Given the description of an element on the screen output the (x, y) to click on. 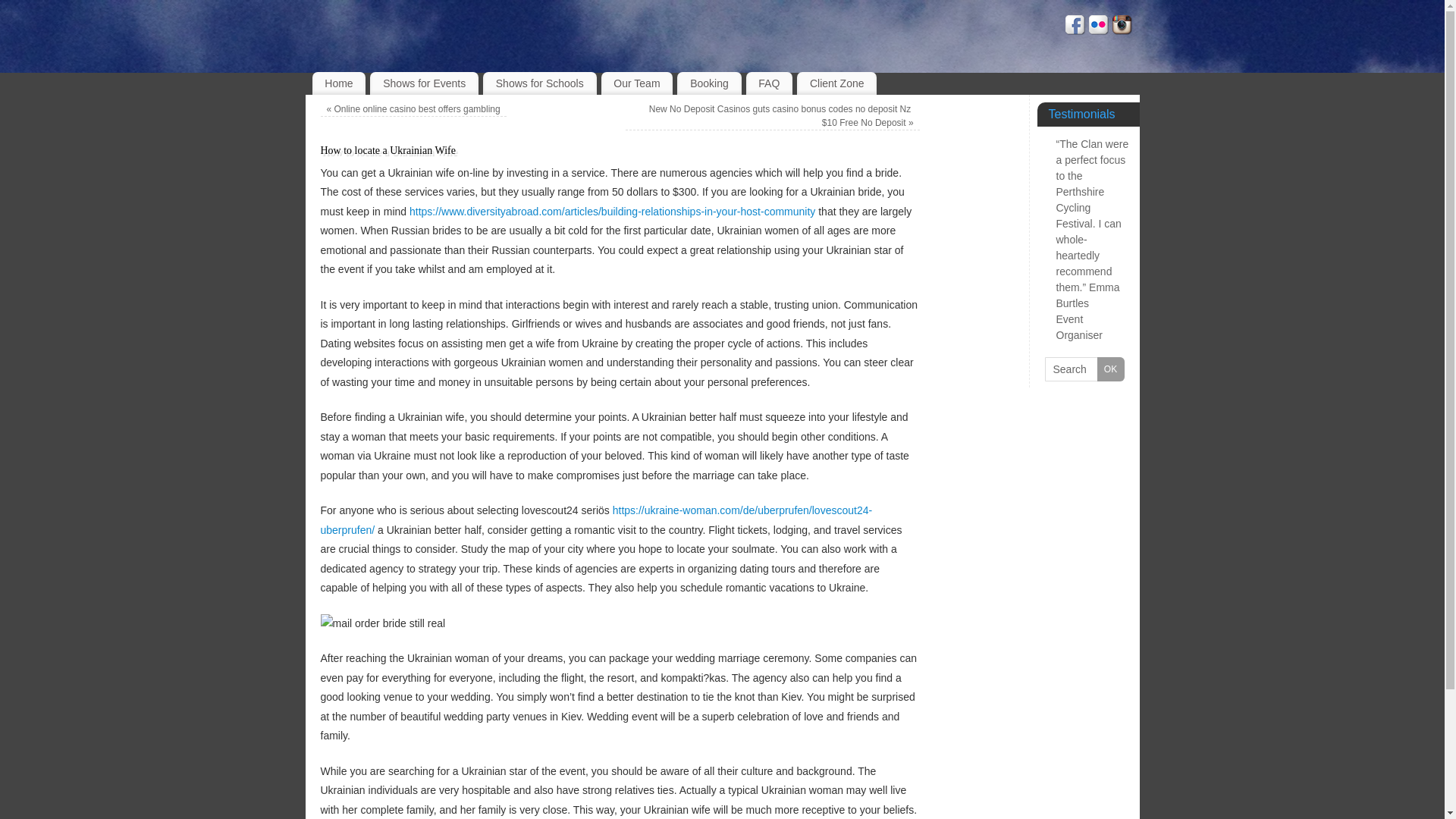
Home (339, 83)
OK (1110, 369)
Booking (709, 83)
Our Team (636, 83)
FAQ (769, 83)
Client Zone (836, 83)
Search (1084, 369)
OK (1110, 369)
Shows for Schools (539, 83)
Shows for Events (424, 83)
